Given the description of an element on the screen output the (x, y) to click on. 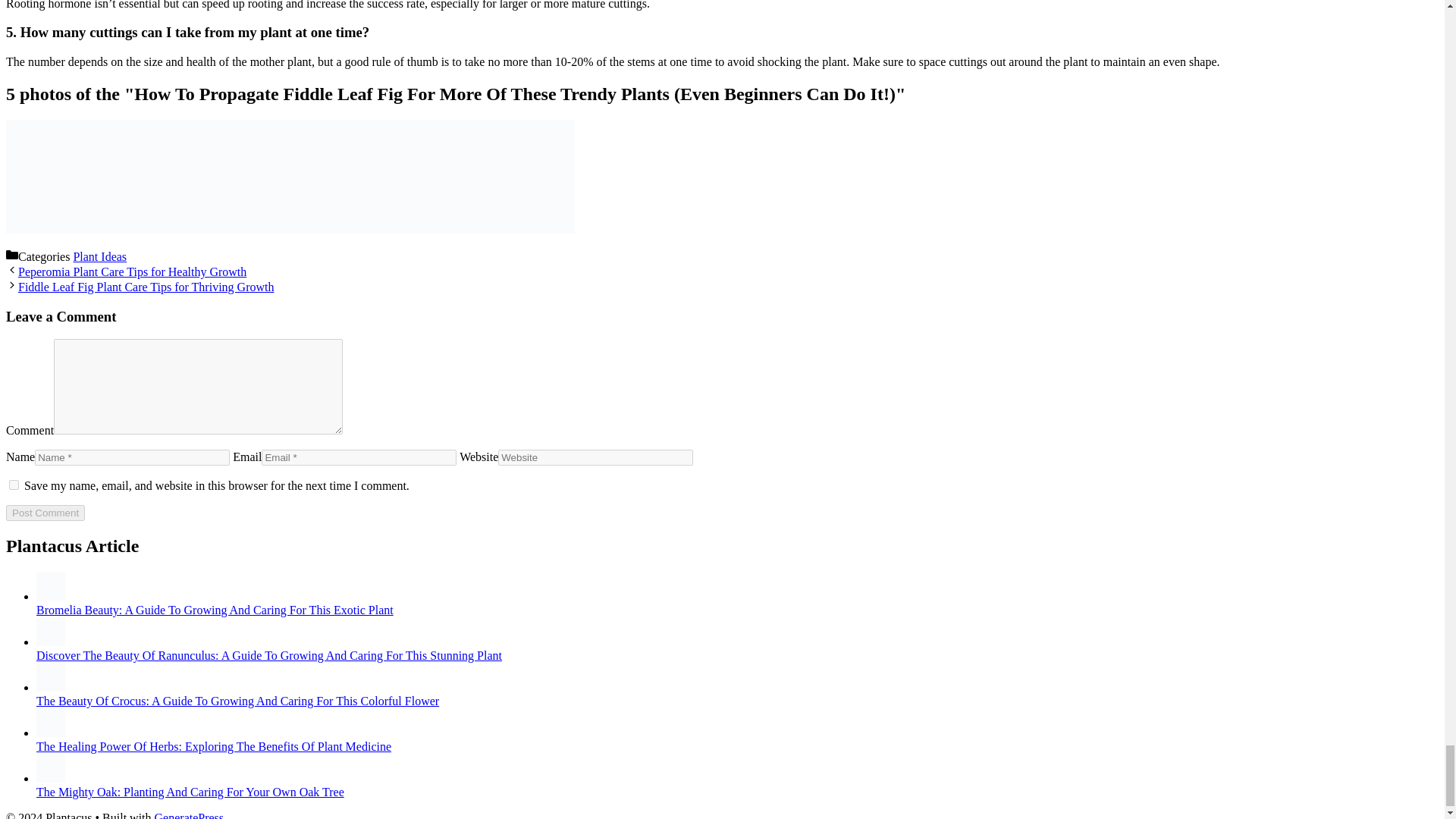
How To Propagate Fiddle Leaf Fig (518, 228)
How To Propagate Fiddle Leaf Fig (404, 228)
Post Comment (44, 512)
Peperomia Plant Care Tips for Healthy Growth (131, 271)
How To Propagate Fiddle Leaf Fig (289, 228)
Post Comment (44, 512)
The Mighty Oak: Planting And Caring For Your Own Oak Tree (189, 791)
Infografic How To Propagate Fiddle Leaf Fig (62, 228)
Plant Ideas (99, 256)
How To Propagate Fiddle Leaf Fig (175, 228)
Fiddle Leaf Fig Plant Care Tips for Thriving Growth (145, 286)
